Given the description of an element on the screen output the (x, y) to click on. 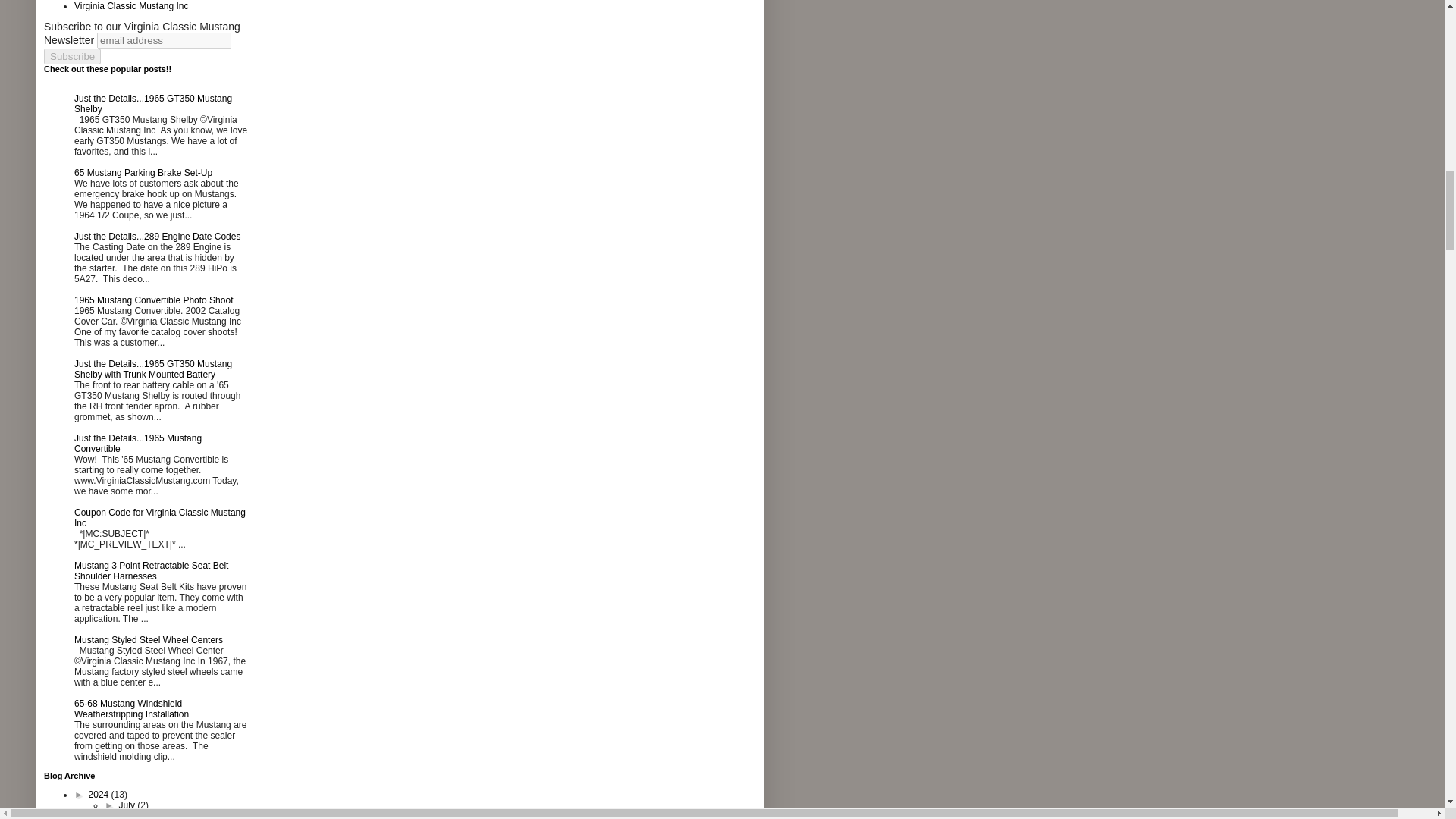
Subscribe (71, 56)
65 Mustang Parking Brake Set-Up (143, 172)
Just the Details...289 Engine Date Codes (157, 235)
Subscribe (71, 56)
Virginia Classic Mustang Inc (131, 5)
Just the Details...1965 GT350 Mustang Shelby (152, 103)
